Given the description of an element on the screen output the (x, y) to click on. 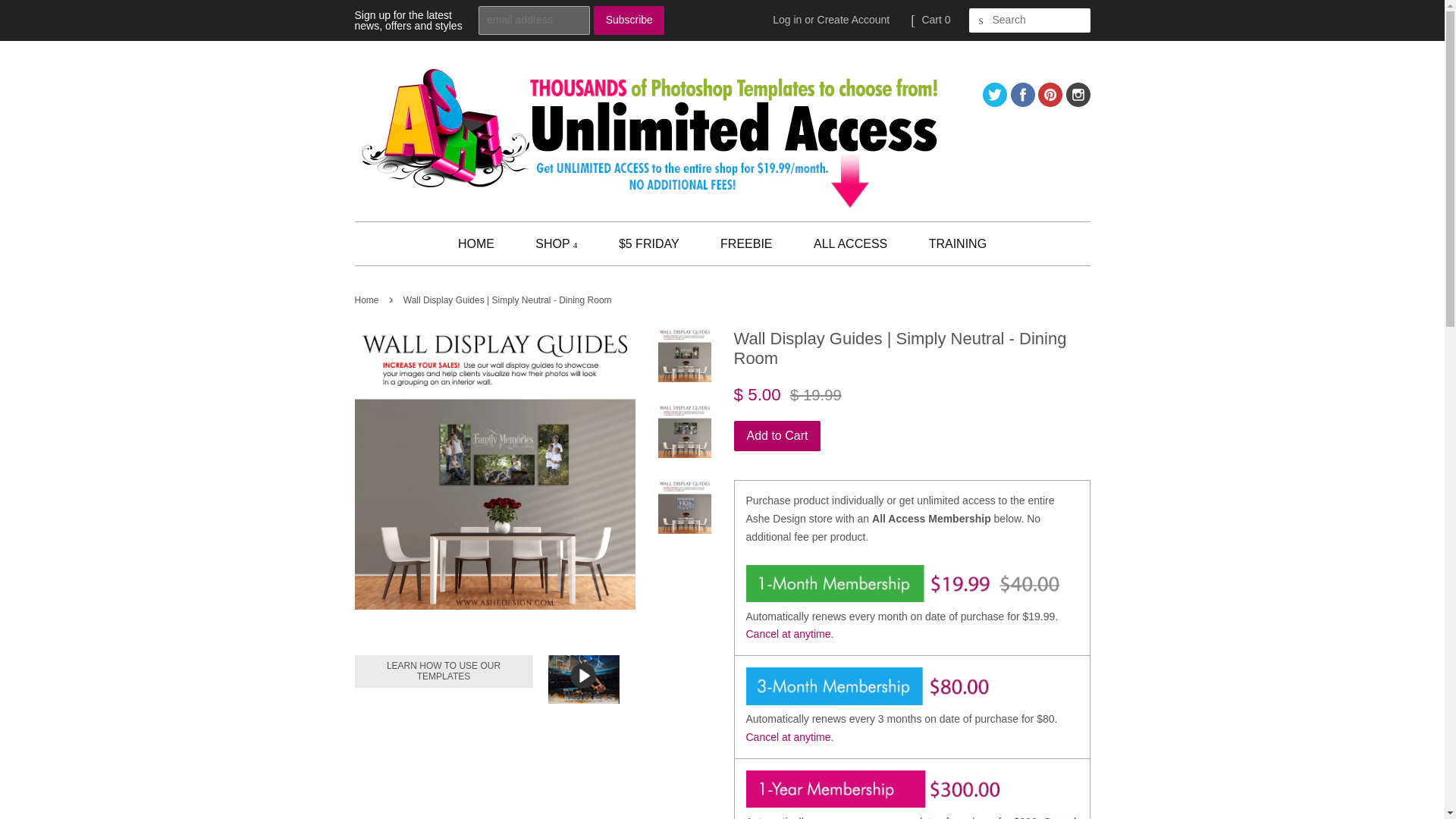
AsheDesign on Facebook (1022, 102)
SHOP (556, 243)
Cart 0 (935, 20)
Search (980, 20)
Create Account (852, 19)
Log in (787, 19)
AsheDesign on Twitter (994, 102)
Twitter (994, 102)
Subscribe (628, 20)
AsheDesign on Instagram (1077, 102)
